Given the description of an element on the screen output the (x, y) to click on. 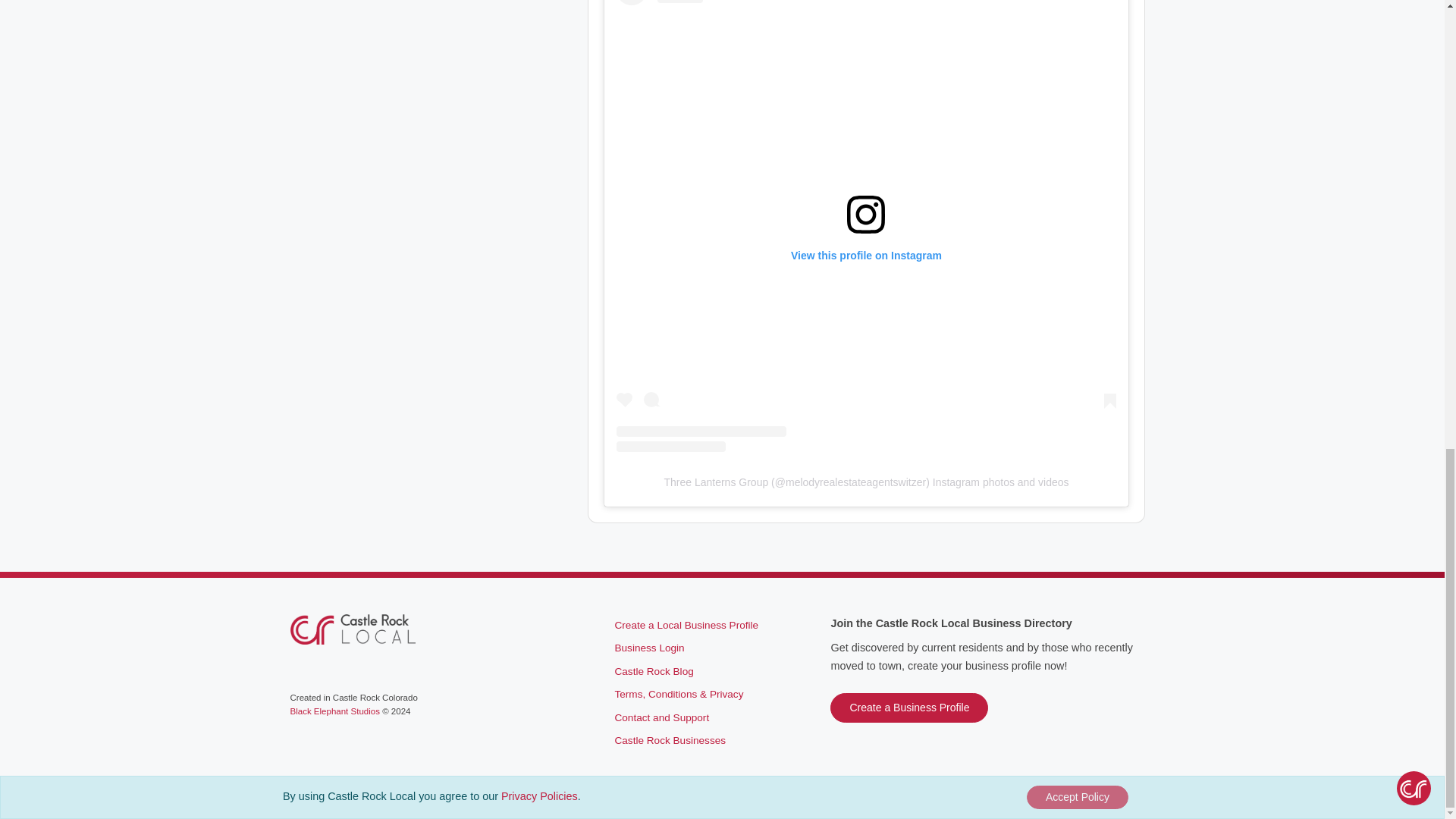
Three Lanterns Group (715, 481)
Create a Local Business Profile (686, 624)
Castle Rock Businesses (669, 740)
Black Elephant Studios (333, 710)
Castle Rock Colorado (351, 629)
Contact and Support (661, 717)
melodyrealestateagentswitzer (856, 481)
Business Login (649, 647)
Create a Business Profile (908, 707)
Castle Rock Blog (653, 671)
